Given the description of an element on the screen output the (x, y) to click on. 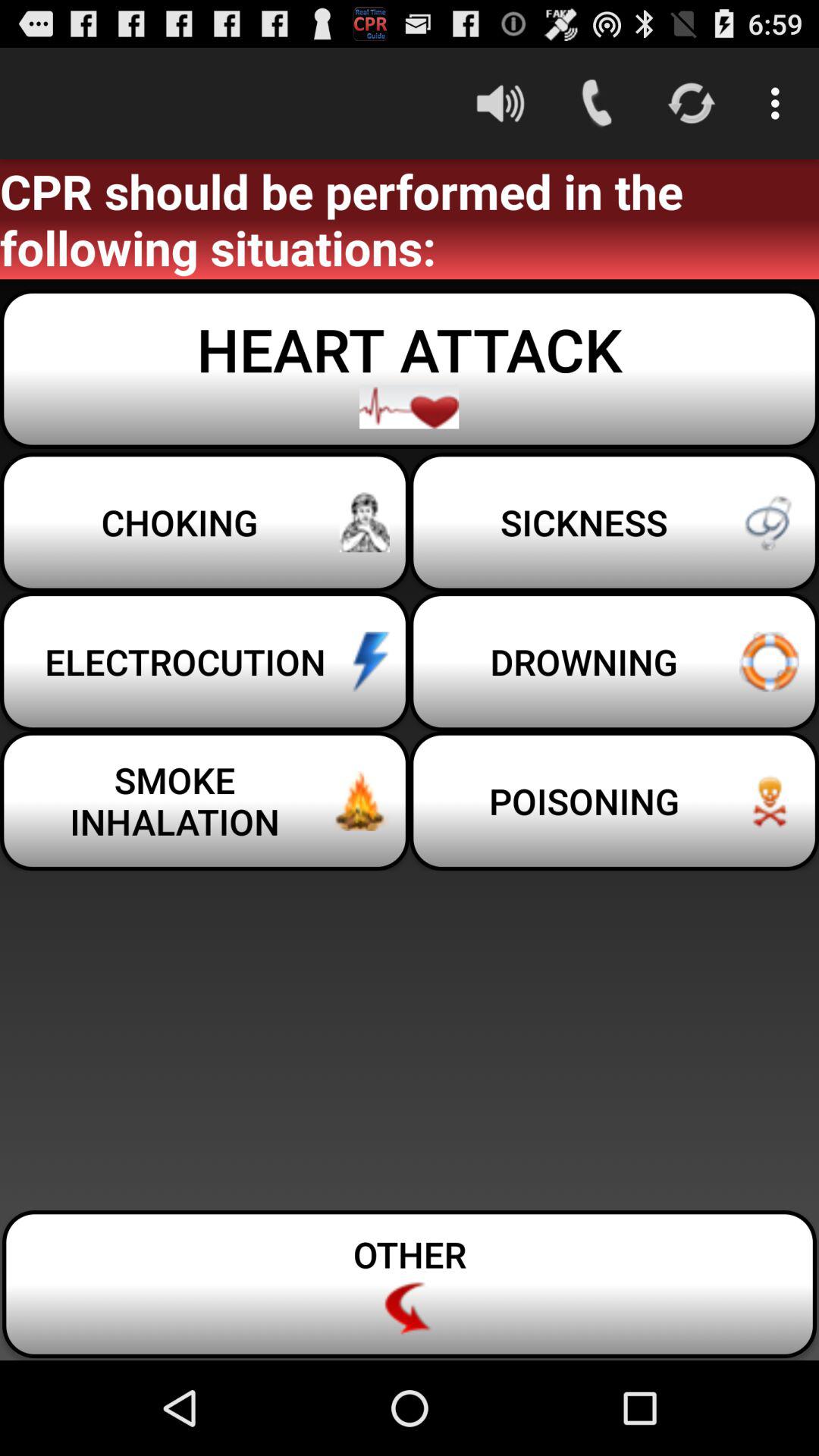
choose poisoning icon (614, 800)
